Given the description of an element on the screen output the (x, y) to click on. 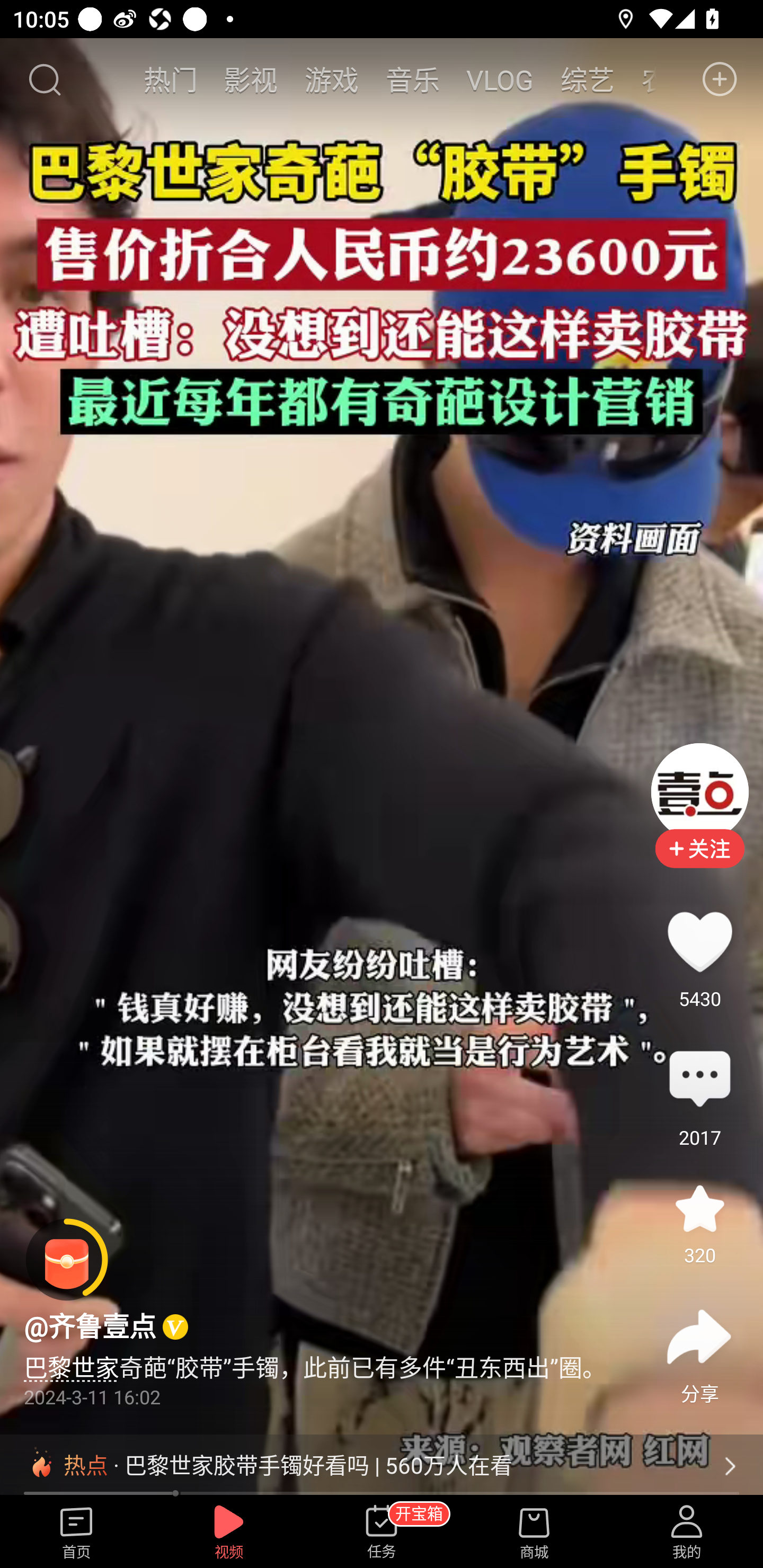
热门 (170, 79)
影视 (250, 79)
游戏 (331, 79)
音乐 (412, 79)
VLOG (500, 79)
综艺 (587, 79)
搜索 (44, 79)
发布 (720, 79)
头像 (699, 791)
加关注 (699, 862)
点赞5430 5430 (699, 941)
评论2017 评论 2017 (699, 1080)
收藏 320 (699, 1207)
阅读赚金币 (66, 1259)
分享 (699, 1336)
@齐鲁壹点 (89, 1326)
热点  · 巴黎世家胶带手镯好看吗  | 560万人在看 (381, 1465)
首页 (76, 1532)
视频 (228, 1532)
任务 开宝箱 (381, 1532)
商城 (533, 1532)
我的 (686, 1532)
